Given the description of an element on the screen output the (x, y) to click on. 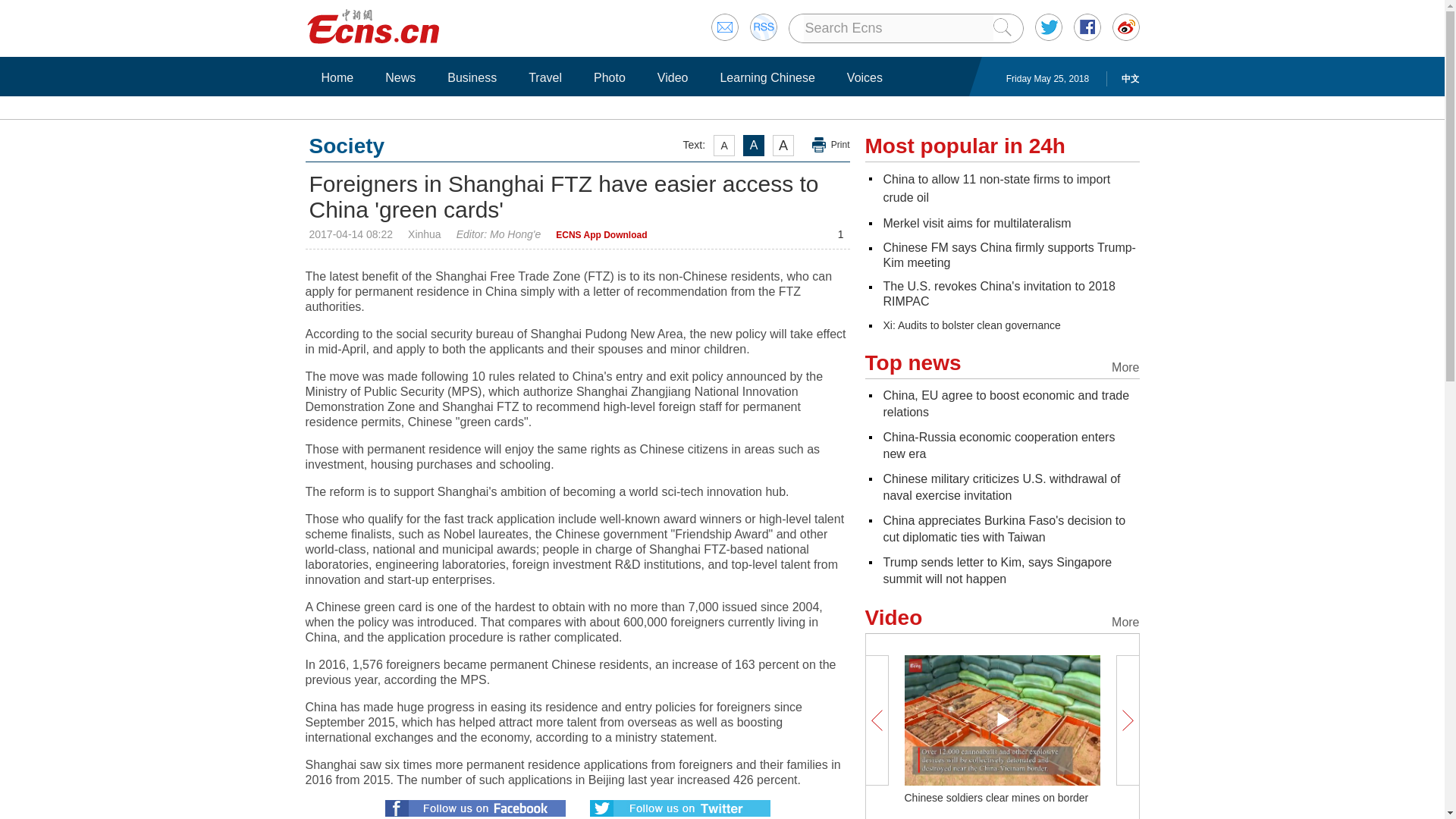
The U.S. revokes China's invitation to 2018 RIMPAC (998, 293)
Voices (864, 77)
Search Ecns (897, 27)
Business (472, 77)
Travel (544, 77)
Chinese FM says China firmly supports Trump-Kim meeting (1008, 254)
Video (673, 77)
Print (831, 144)
China to allow 11 non-state firms to import crude oil (995, 187)
Photo (609, 77)
Xi: Audits to bolster clean governance (970, 325)
Learning Chinese (766, 77)
Home (337, 77)
Merkel visit aims for multilateralism (976, 223)
ECNS App Download (601, 235)
